Given the description of an element on the screen output the (x, y) to click on. 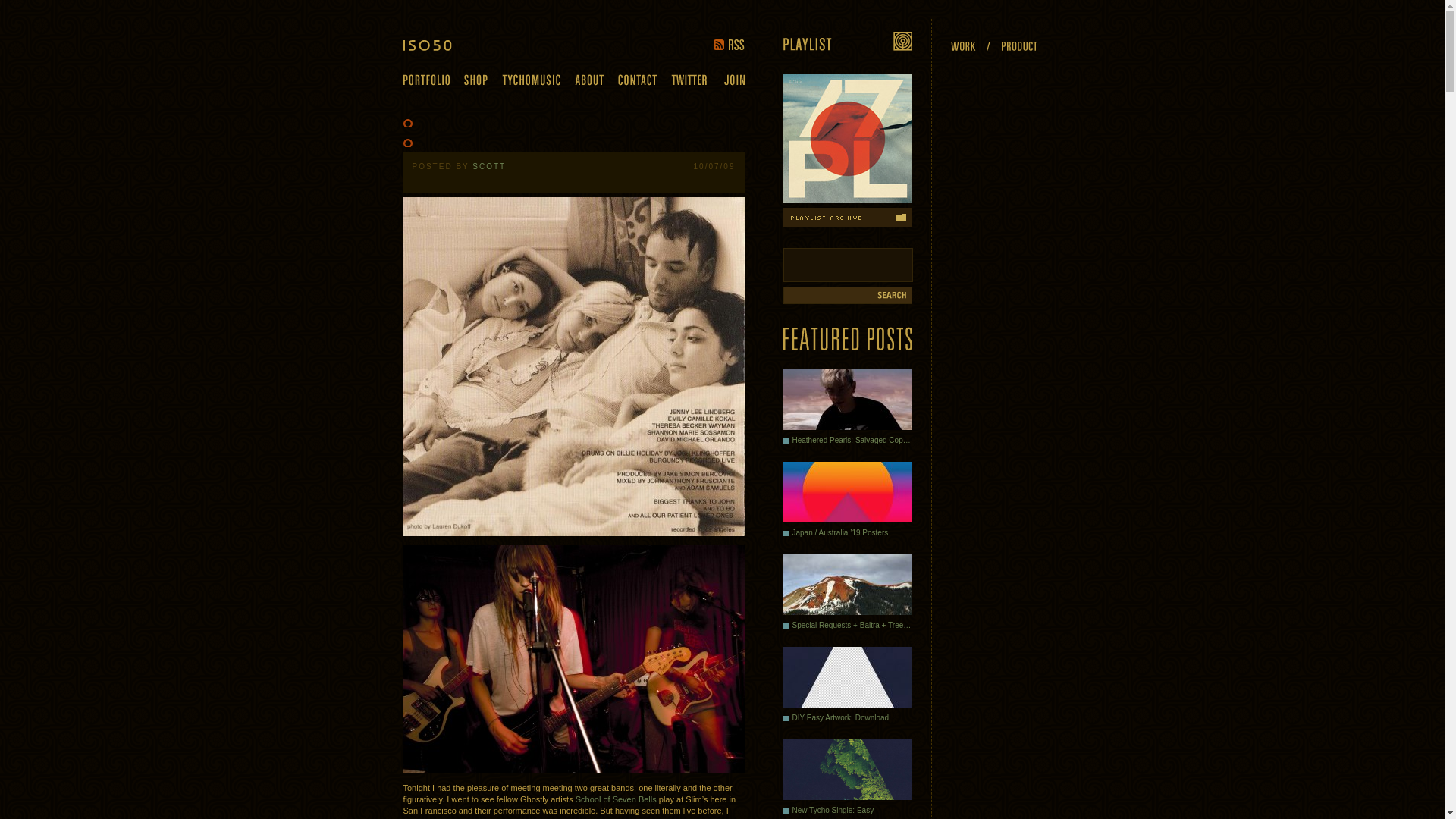
DIY Easy Artwork: Download (847, 687)
2:42 am (714, 165)
Playlist Archive (847, 217)
RSS (728, 44)
School of Seven Bells (615, 798)
Portfolio (426, 79)
Shop (475, 79)
Playlist (847, 40)
Featured Posts (847, 338)
Tycho Music (531, 79)
Heathered Pearls: Salvaged Copper (847, 410)
Permalink to Warpaint (443, 141)
Contact (636, 79)
ISO50 (438, 44)
Join (733, 79)
